Given the description of an element on the screen output the (x, y) to click on. 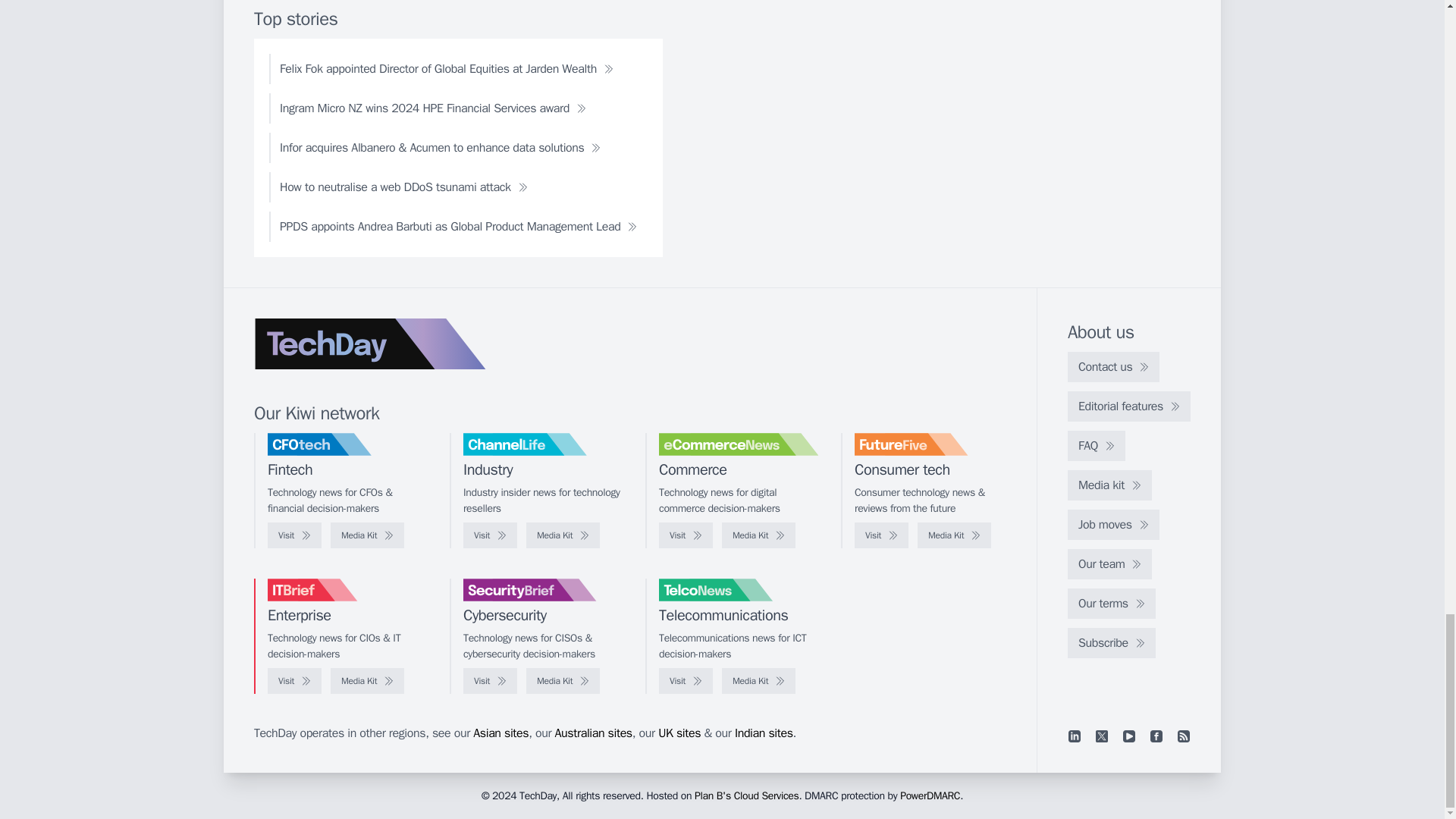
Media Kit (758, 534)
Visit (294, 534)
Media Kit (954, 534)
Visit (686, 534)
Media Kit (367, 534)
Visit (881, 534)
Media Kit (562, 534)
Ingram Micro NZ wins 2024 HPE Financial Services award (432, 108)
Visit (489, 534)
How to neutralise a web DDoS tsunami attack (403, 186)
